Given the description of an element on the screen output the (x, y) to click on. 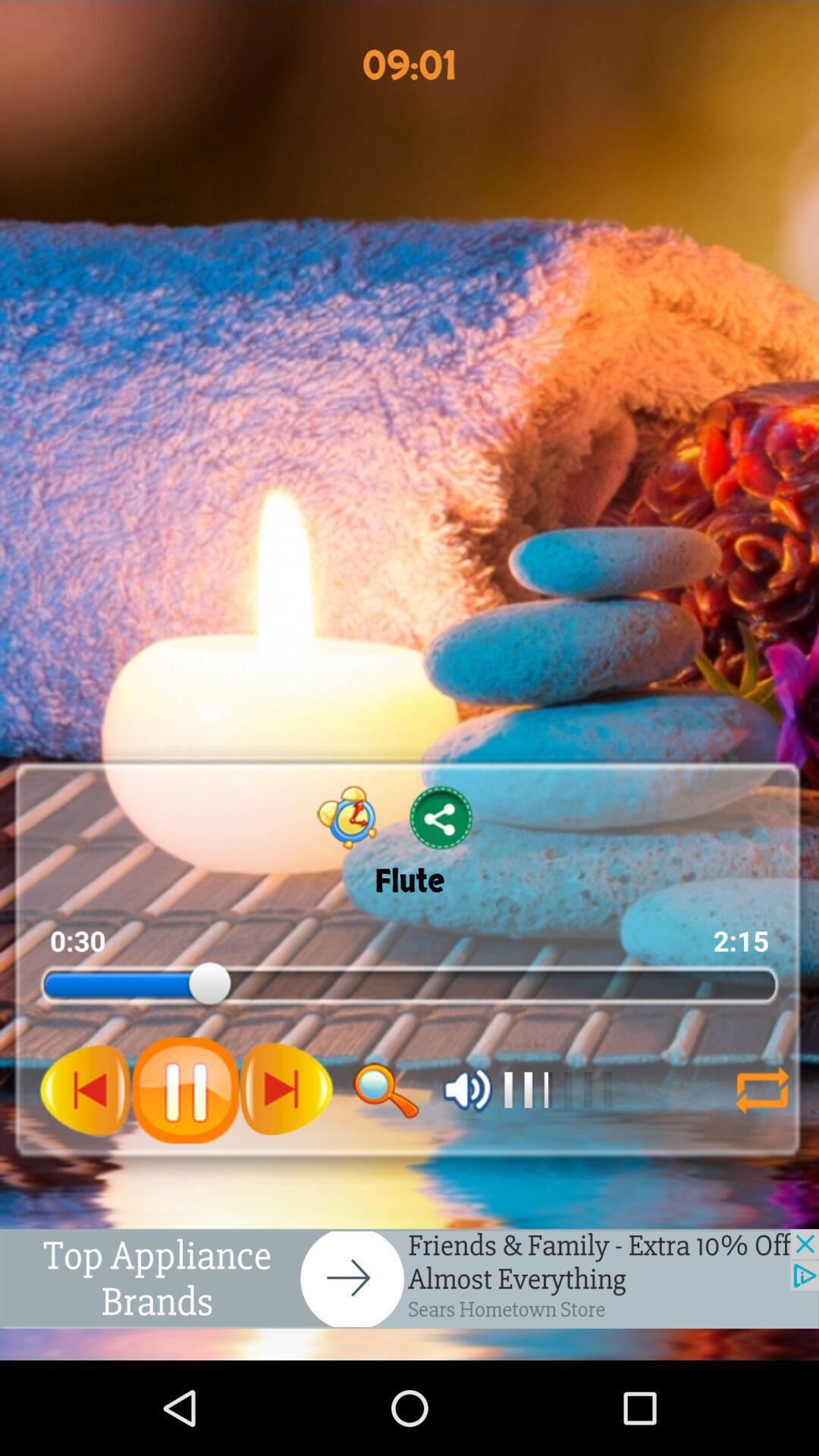
shuffle (761, 1089)
